Given the description of an element on the screen output the (x, y) to click on. 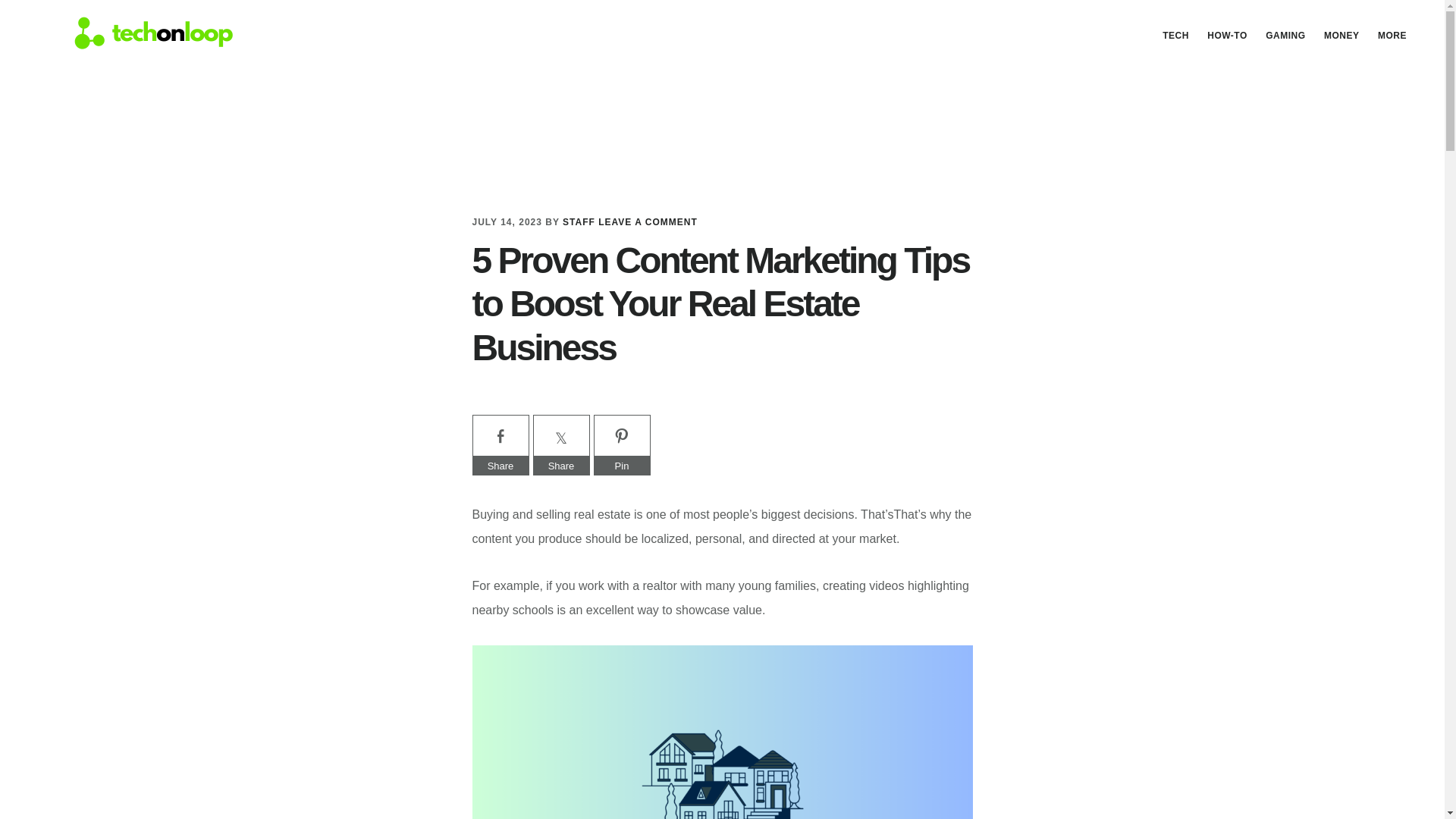
TECHONLOOP (143, 32)
HOW-TO (1227, 35)
GAMING (1285, 35)
STAFF (578, 222)
Share (499, 465)
TECH (1175, 35)
LEAVE A COMMENT (647, 222)
Pin (620, 465)
MORE (1391, 35)
